Given the description of an element on the screen output the (x, y) to click on. 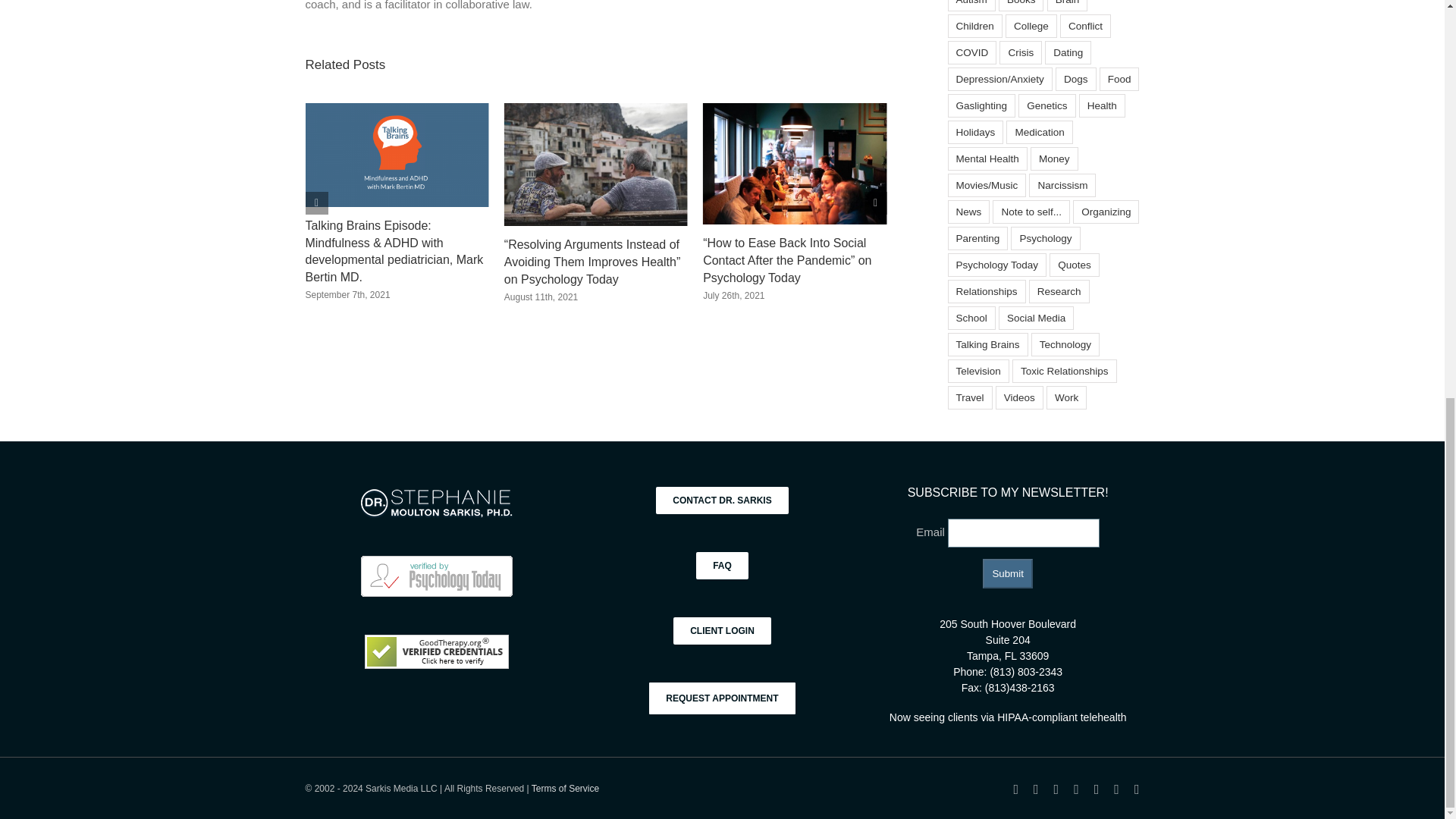
Submit (1007, 573)
